Given the description of an element on the screen output the (x, y) to click on. 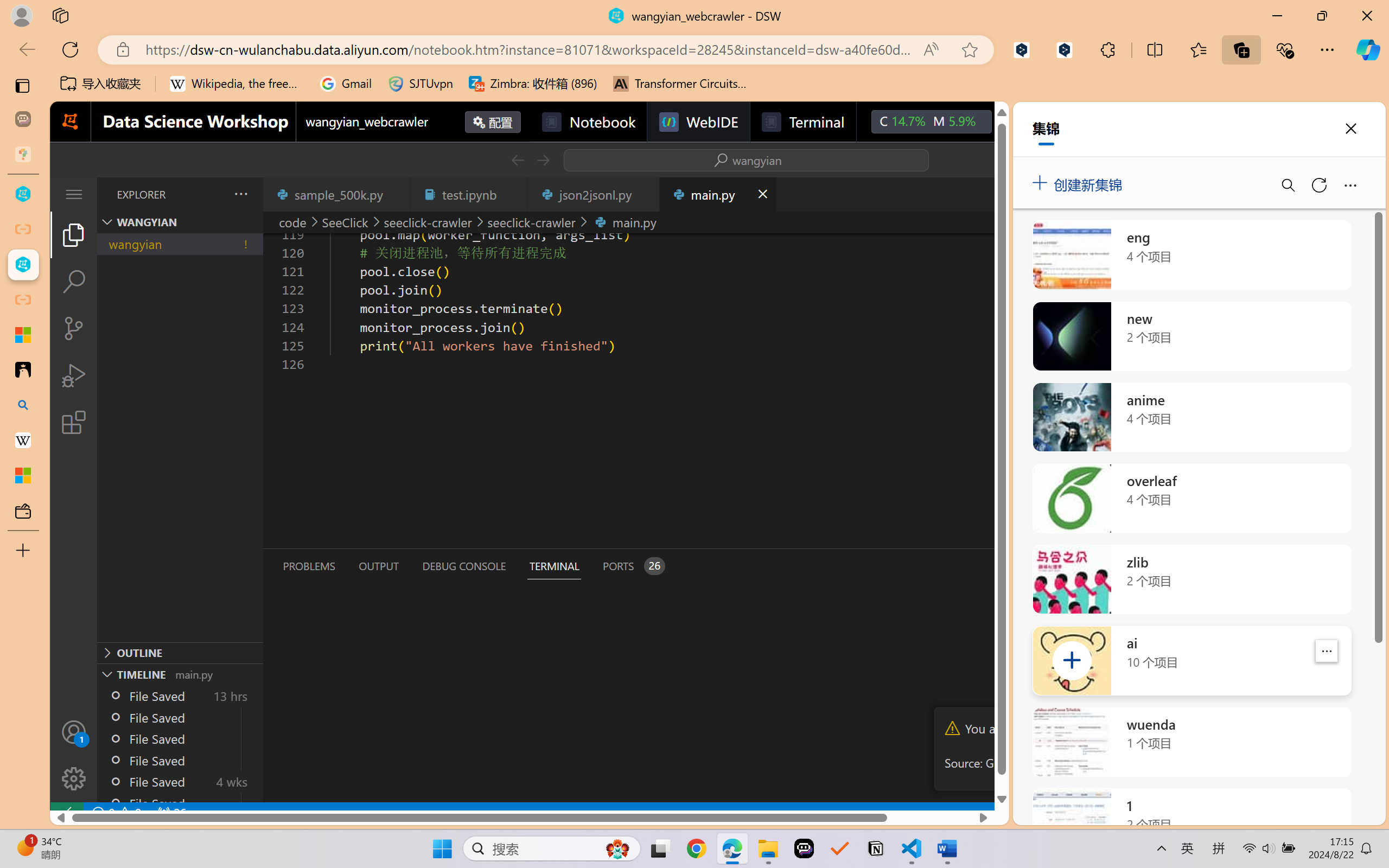
No Problems (115, 812)
test.ipynb (468, 194)
Output (Ctrl+Shift+U) (377, 565)
Application Menu (73, 194)
Close (Ctrl+F4) (761, 194)
Accounts - Sign in requested (73, 732)
Source Control (Ctrl+Shift+G) (73, 328)
Earth - Wikipedia (22, 440)
